Given the description of an element on the screen output the (x, y) to click on. 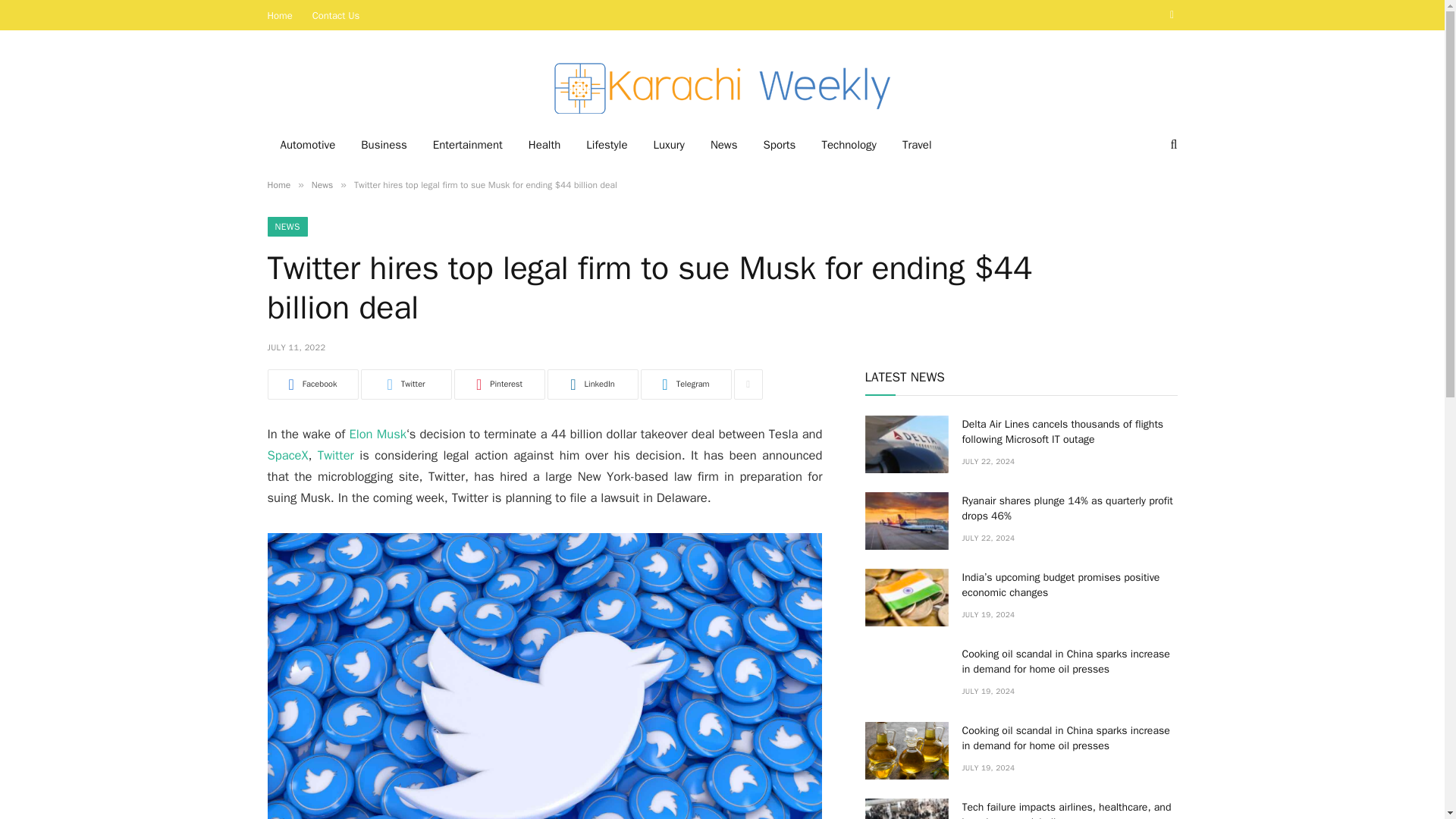
Travel (916, 144)
Automotive (306, 144)
Telegram (685, 384)
Share on LinkedIn (593, 384)
Home (279, 15)
Contact Us (335, 15)
Pinterest (498, 384)
News (322, 184)
Karachi Weekly (721, 86)
Switch to Dark Design - easier on eyes. (1170, 14)
LinkedIn (593, 384)
Sports (780, 144)
Home (277, 184)
Entertainment (467, 144)
